Given the description of an element on the screen output the (x, y) to click on. 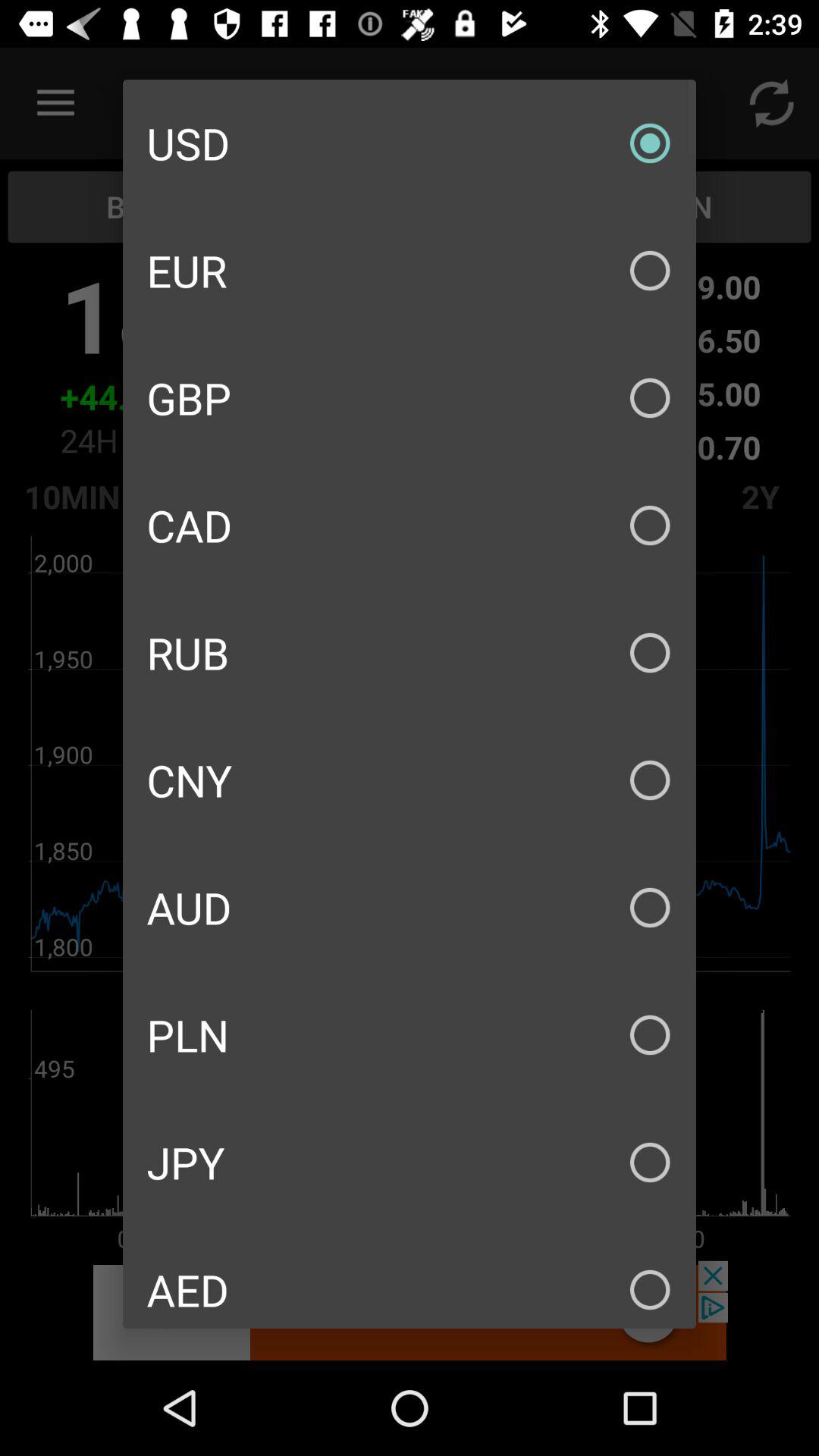
click the eur icon (409, 270)
